Given the description of an element on the screen output the (x, y) to click on. 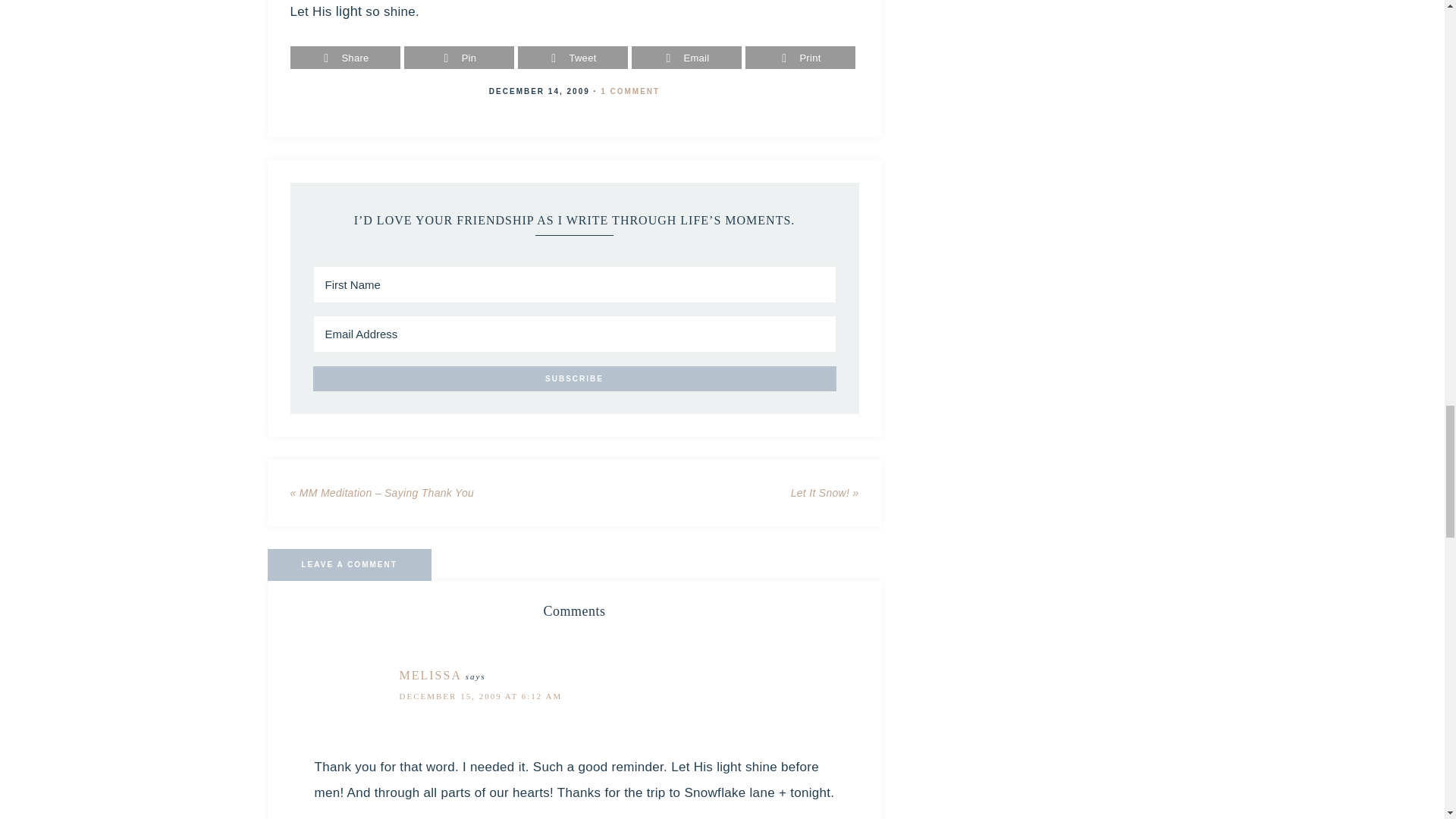
Subscribe (574, 378)
Subscribe (574, 378)
MELISSA (429, 675)
Print (799, 57)
DECEMBER 15, 2009 AT 6:12 AM (480, 696)
Tweet (572, 57)
LEAVE A COMMENT (348, 564)
Share (344, 57)
Email (686, 57)
Pin (458, 57)
1 COMMENT (629, 90)
